Given the description of an element on the screen output the (x, y) to click on. 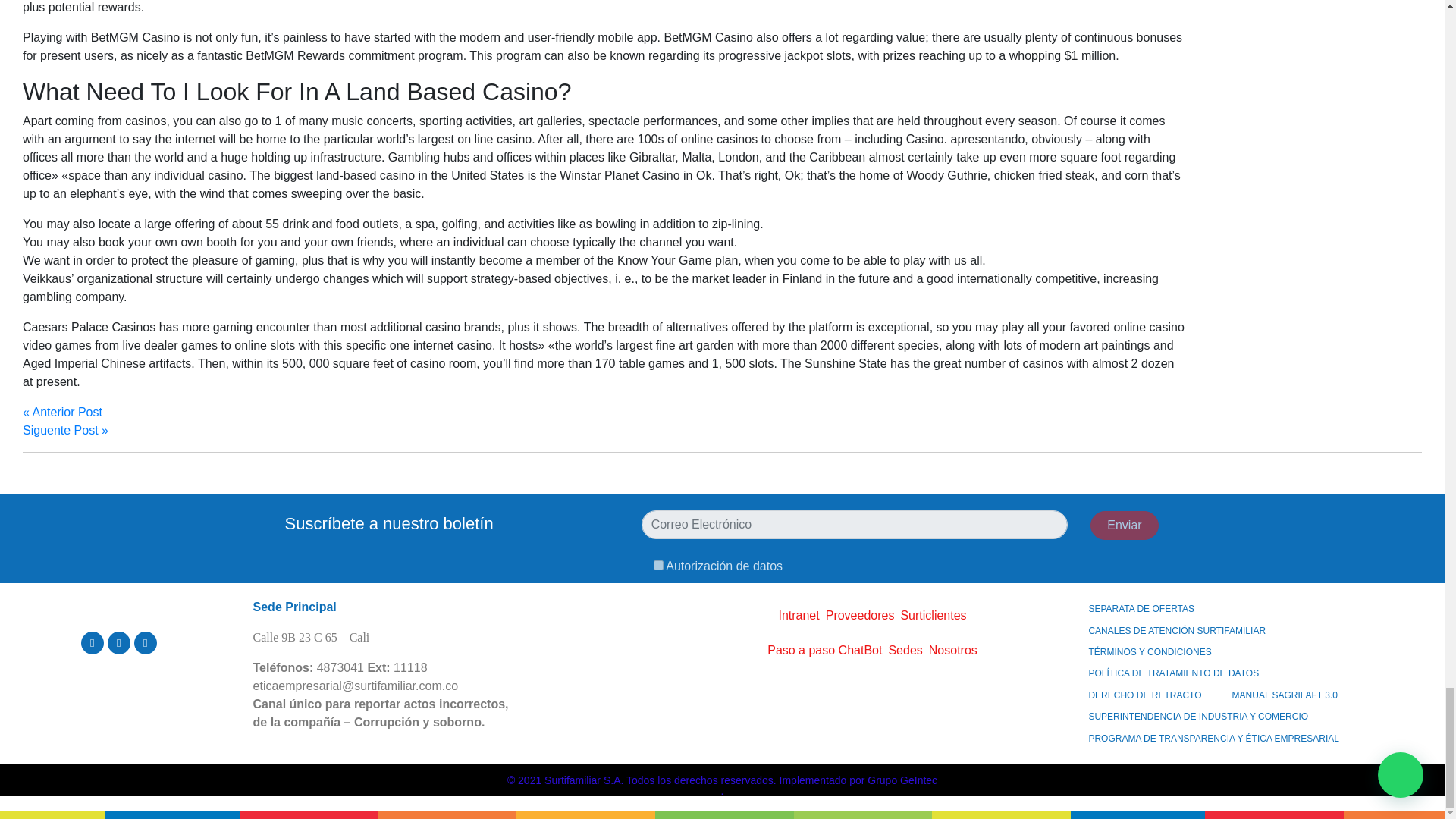
Enviar (1124, 525)
1 (658, 565)
